Given the description of an element on the screen output the (x, y) to click on. 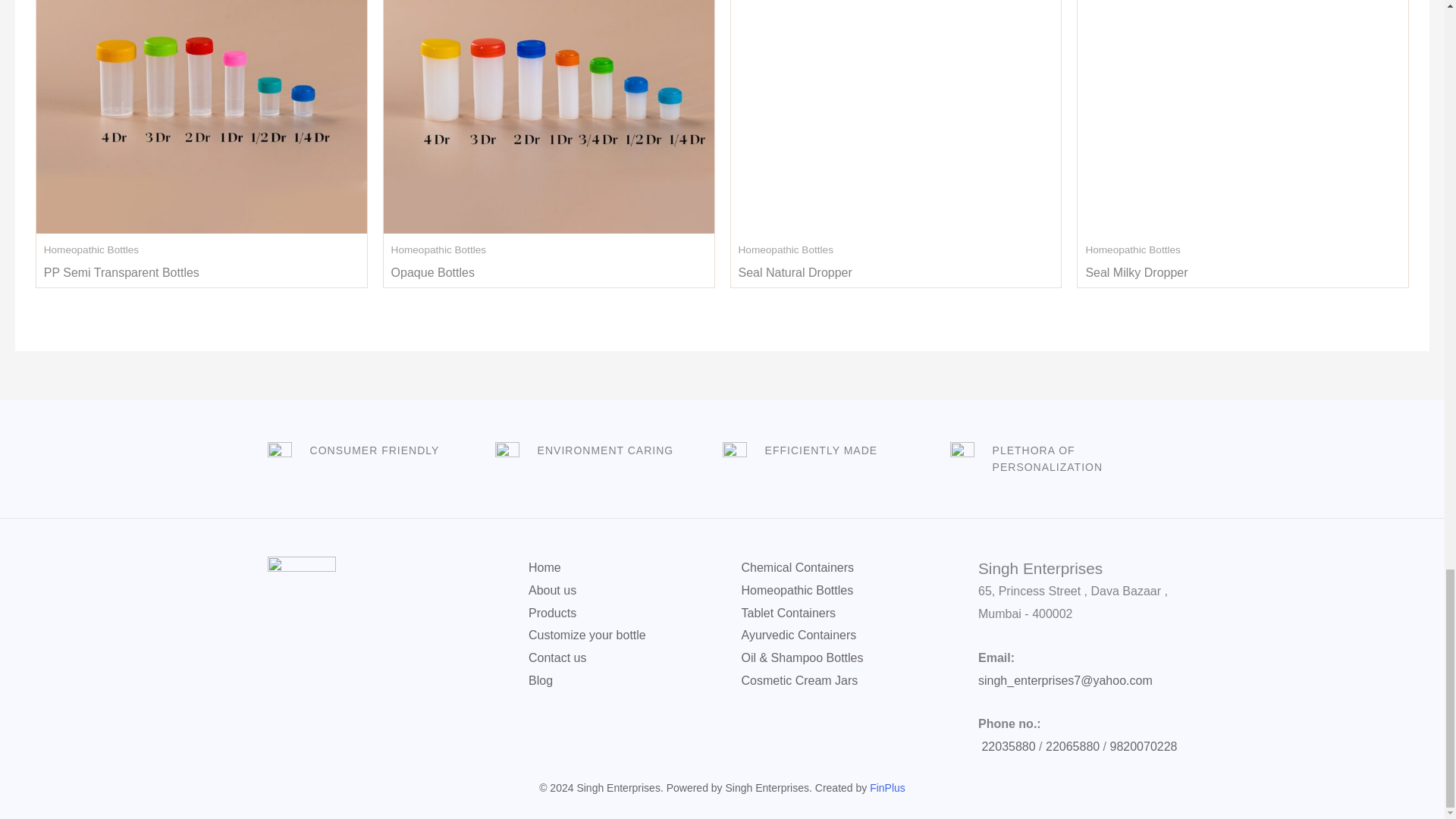
Seal Natural Dropper (794, 276)
Seal Milky Dropper (1136, 276)
PP Semi Transparent Bottles (121, 276)
Opaque Bottles (432, 276)
